Given the description of an element on the screen output the (x, y) to click on. 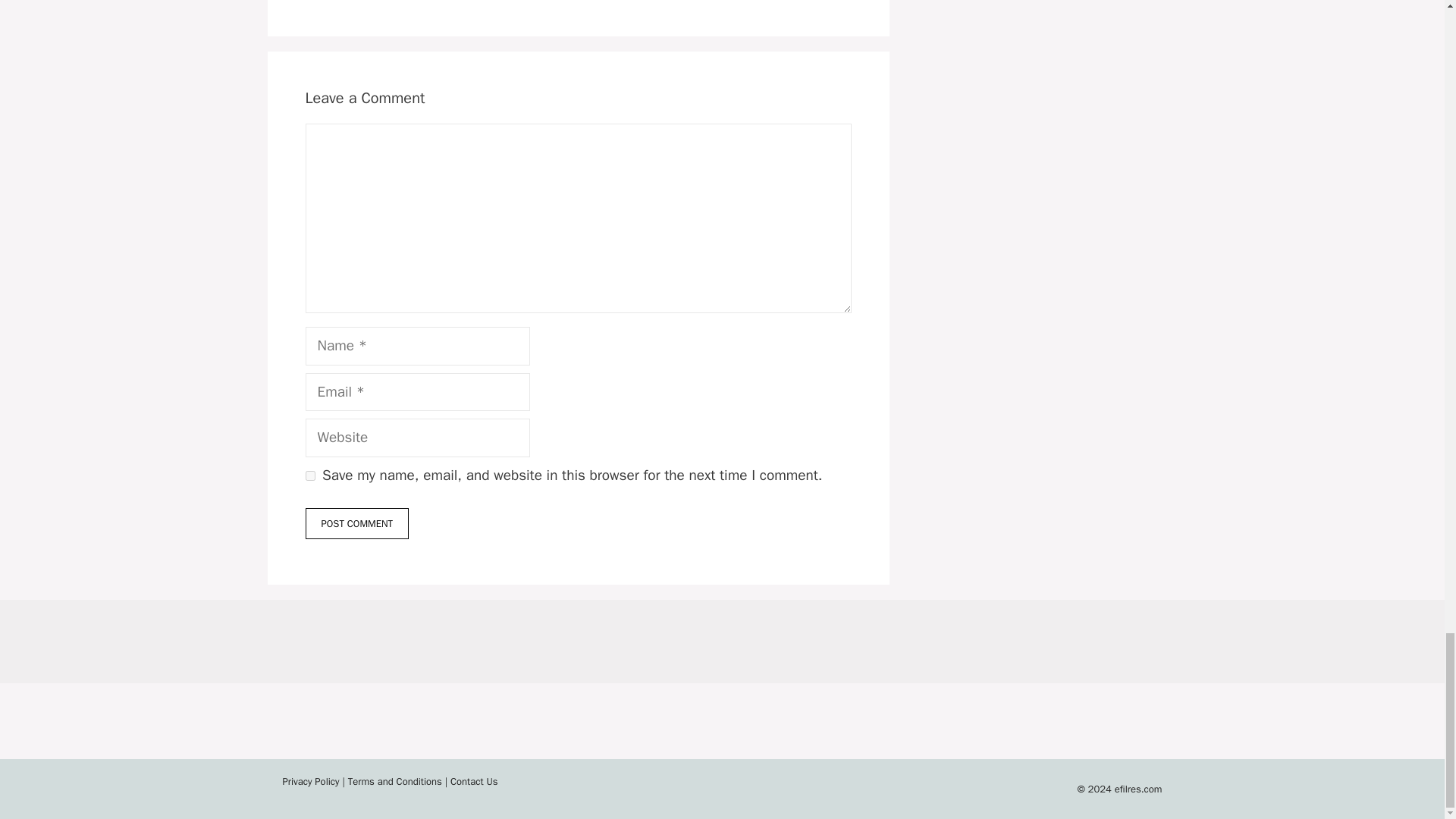
Post Comment (356, 523)
yes (309, 475)
Privacy Policy (310, 780)
Contact Us (473, 780)
Terms and Conditions (394, 780)
Post Comment (356, 523)
